Given the description of an element on the screen output the (x, y) to click on. 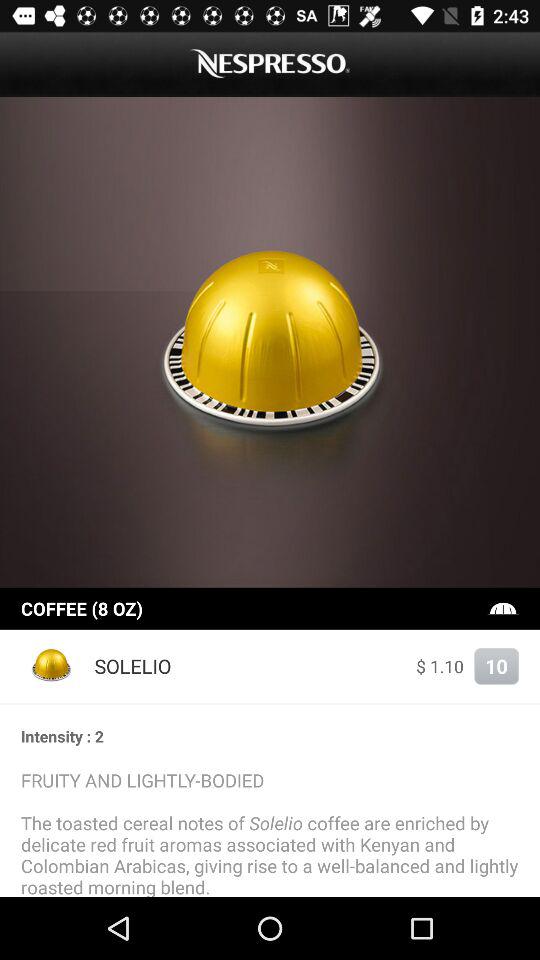
select icon above fruity and lightly item (270, 735)
